Given the description of an element on the screen output the (x, y) to click on. 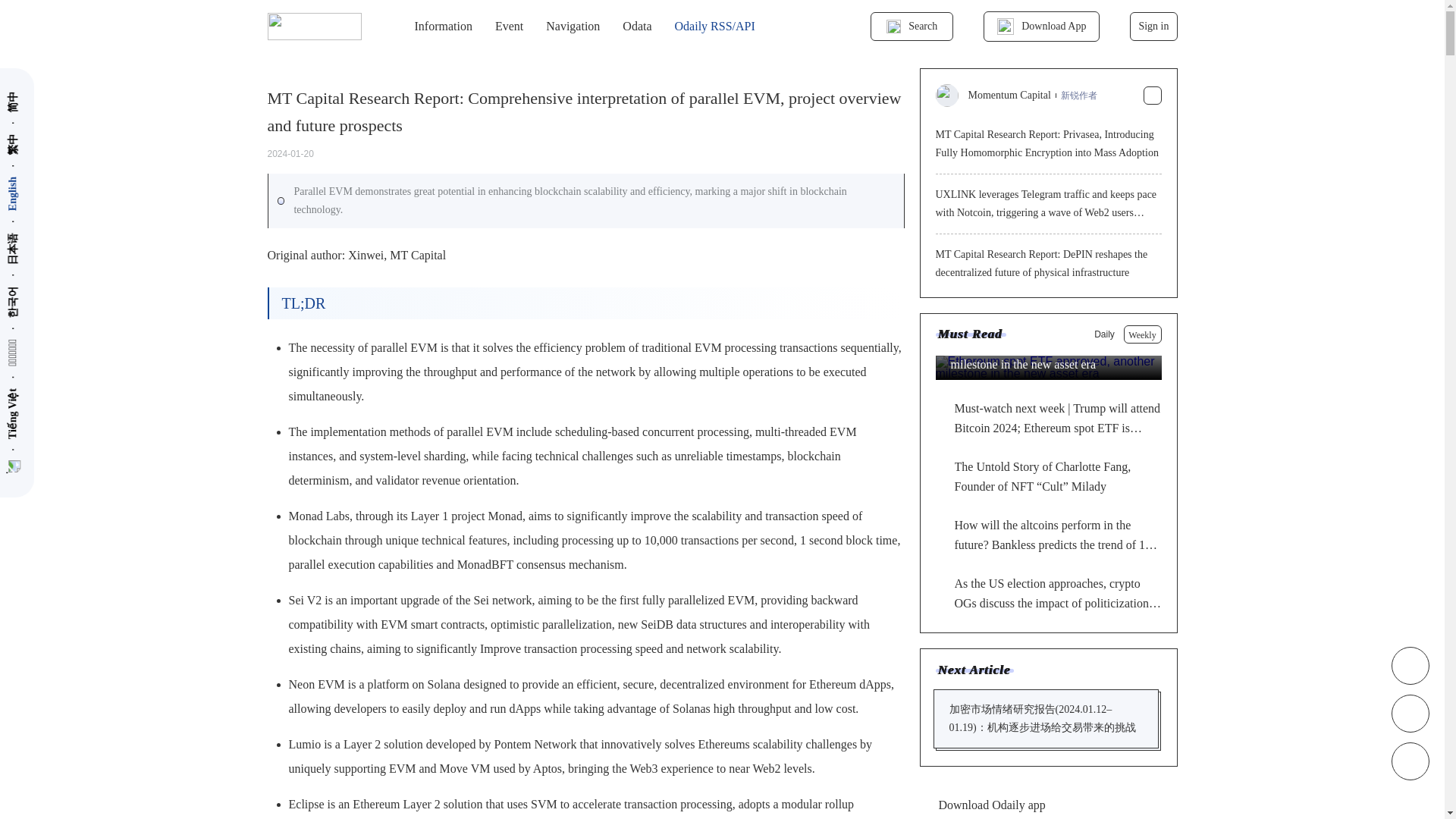
Navigation (572, 26)
Event (508, 26)
Information (442, 26)
Odata (636, 26)
